Given the description of an element on the screen output the (x, y) to click on. 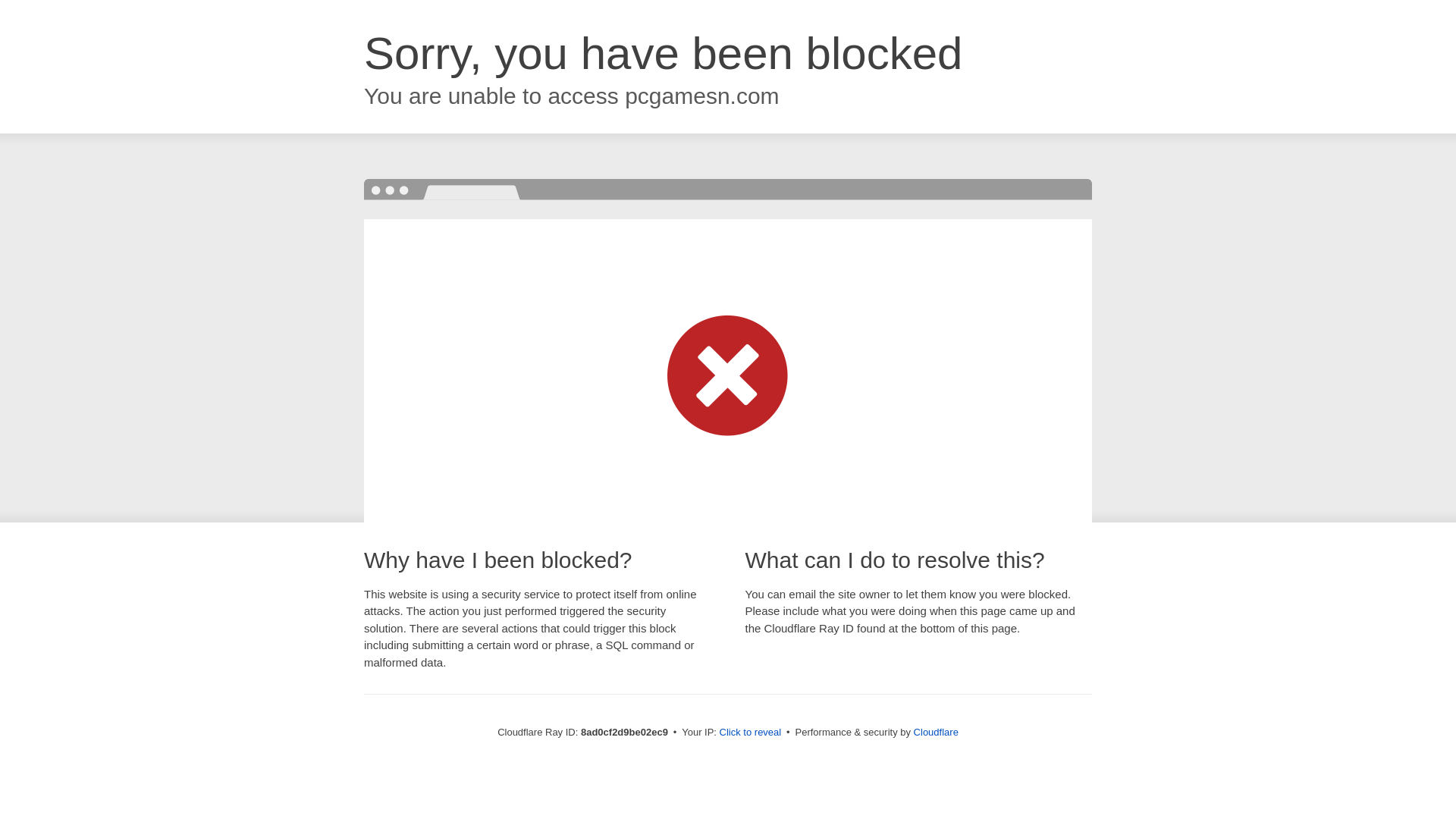
Click to reveal (750, 732)
Cloudflare (936, 731)
